Given the description of an element on the screen output the (x, y) to click on. 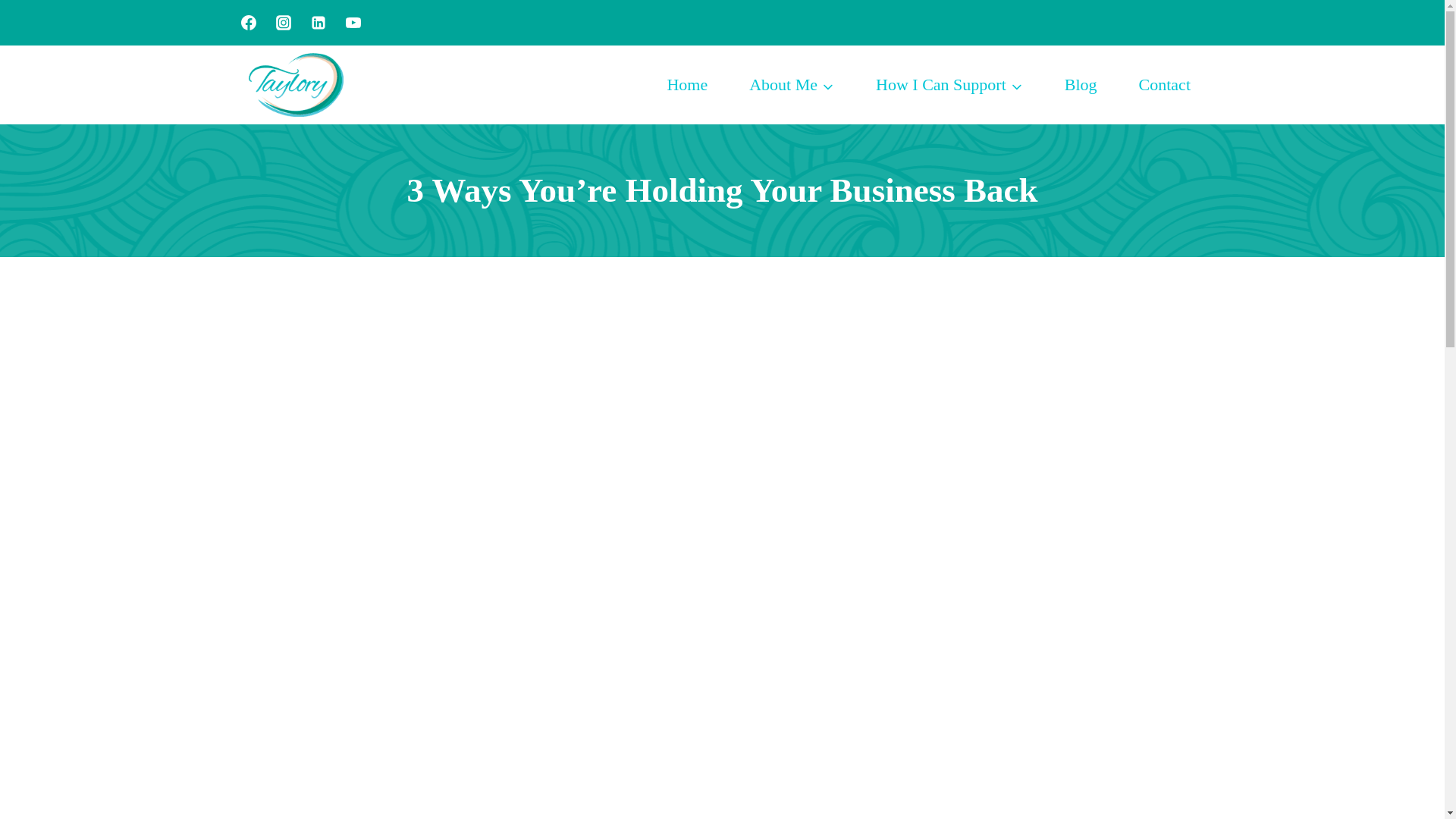
Contact (1164, 84)
About Me (792, 84)
How I Can Support (949, 84)
Blog (1080, 84)
Home (687, 84)
